Given the description of an element on the screen output the (x, y) to click on. 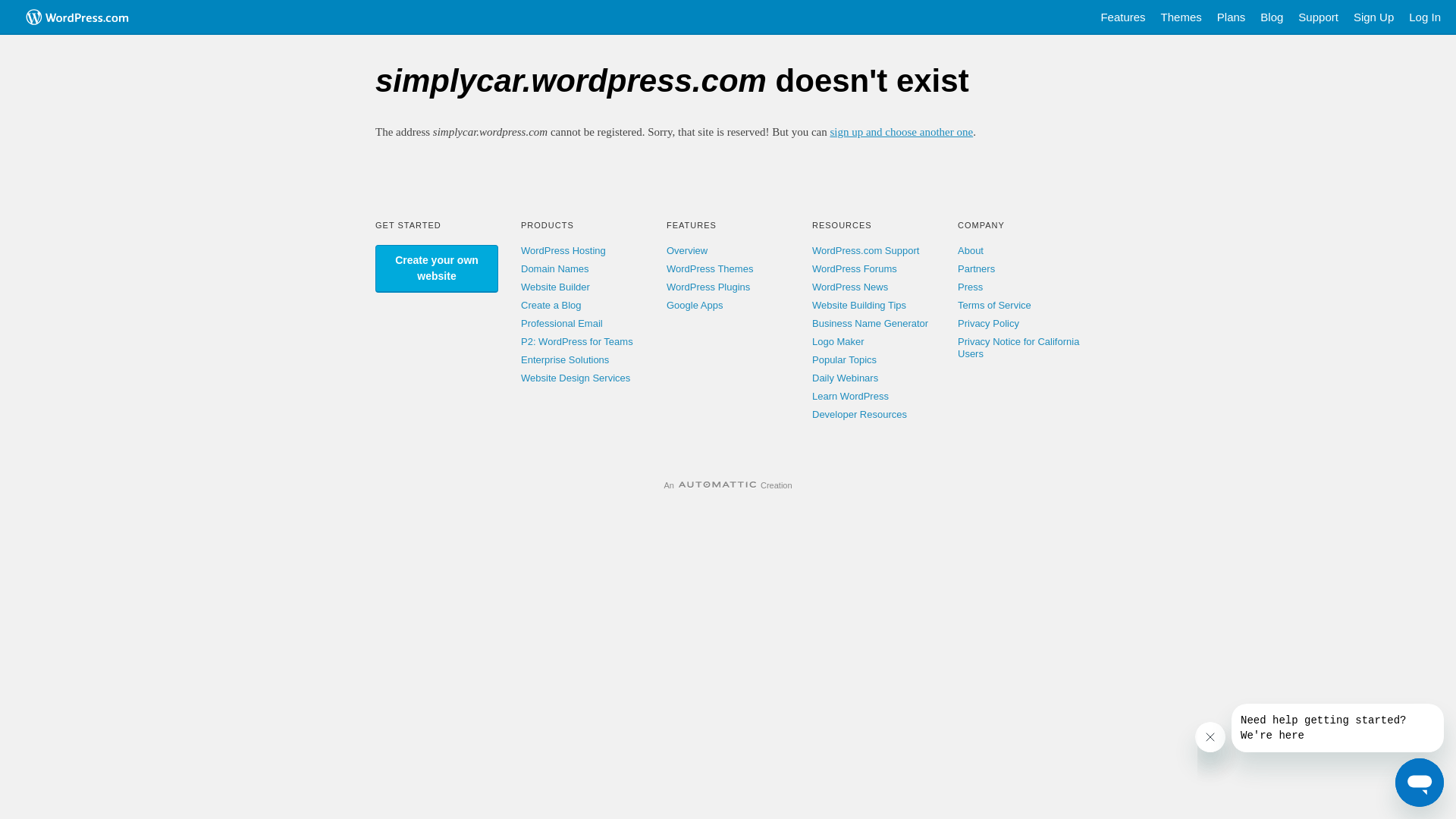
Learn WordPress Element type: text (850, 395)
Privacy Notice for California Users Element type: text (1018, 347)
Business Name Generator Element type: text (870, 323)
WordPress News Element type: text (850, 286)
Message from company Element type: hover (1337, 727)
Plans Element type: text (1231, 17)
Create your own website Element type: text (436, 268)
Automattic Element type: text (717, 485)
Website Design Services Element type: text (575, 377)
Daily Webinars Element type: text (845, 377)
Features Element type: text (1122, 17)
Professional Email Element type: text (561, 323)
sign up and choose another one Element type: text (900, 131)
WordPress.com Support Element type: text (865, 250)
Press Element type: text (969, 286)
About Element type: text (970, 250)
Privacy Policy Element type: text (988, 323)
WordPress Plugins Element type: text (707, 286)
Website Builder Element type: text (554, 286)
P2: WordPress for Teams Element type: text (576, 341)
WordPress Themes Element type: text (709, 268)
Terms of Service Element type: text (994, 304)
Create a Blog Element type: text (550, 304)
Themes Element type: text (1181, 17)
Support Element type: text (1318, 17)
Domain Names Element type: text (554, 268)
Close message Element type: hover (1210, 736)
WordPress Hosting Element type: text (562, 250)
Developer Resources Element type: text (859, 414)
Website Building Tips Element type: text (859, 304)
WordPress Forums Element type: text (854, 268)
Blog Element type: text (1271, 17)
Log In Element type: text (1424, 17)
Google Apps Element type: text (694, 304)
Popular Topics Element type: text (844, 359)
Sign Up Element type: text (1373, 17)
Partners Element type: text (975, 268)
Overview Element type: text (686, 250)
Button to launch messaging window Element type: hover (1419, 782)
Enterprise Solutions Element type: text (564, 359)
Logo Maker Element type: text (838, 341)
